Given the description of an element on the screen output the (x, y) to click on. 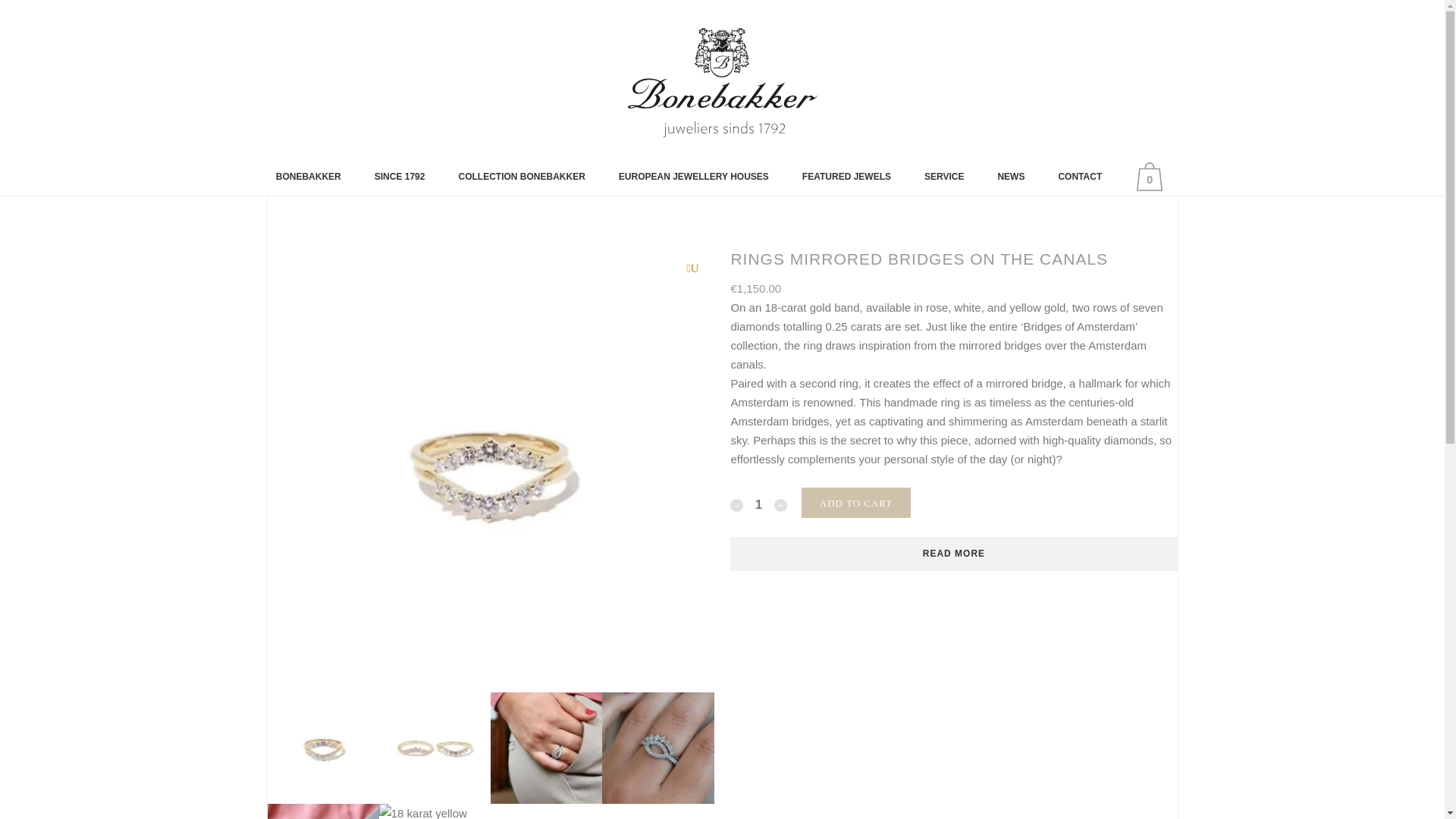
- (736, 504)
BONEBAKKER (308, 176)
FEATURED JEWELS (846, 176)
COLLECTION BONEBAKKER (521, 176)
EUROPEAN JEWELLERY HOUSES (694, 176)
SINCE 1792 (400, 176)
1 (758, 504)
